Given the description of an element on the screen output the (x, y) to click on. 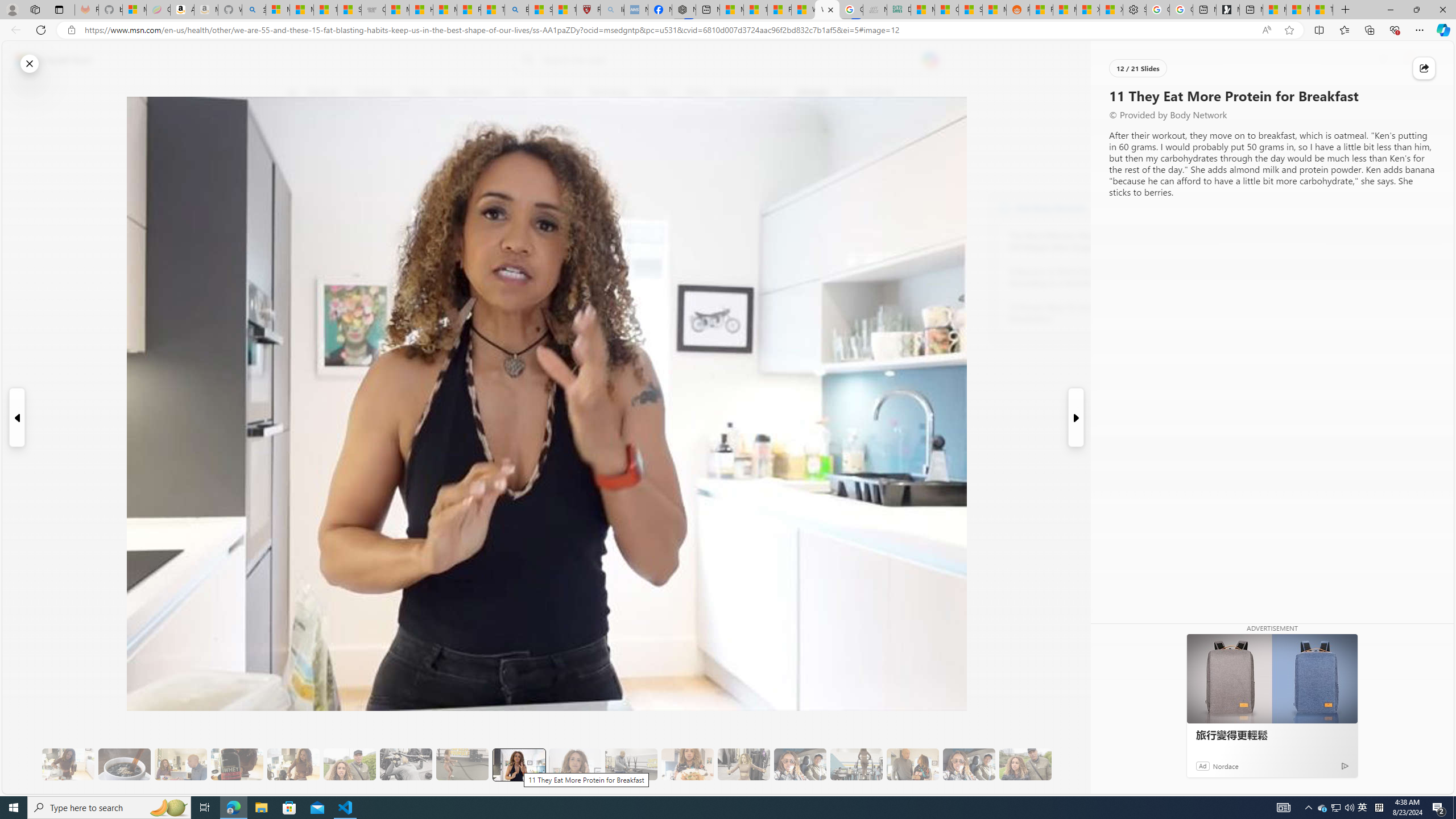
DITOGAMES AG Imprint (898, 9)
14 Common Myths Debunked By Scientific Facts (754, 9)
Skip to footer (46, 59)
16 The Couple's Program Helps with Accountability (800, 764)
Class: at-item (299, 266)
5 She Eats Less Than Her Husband (180, 764)
